Given the description of an element on the screen output the (x, y) to click on. 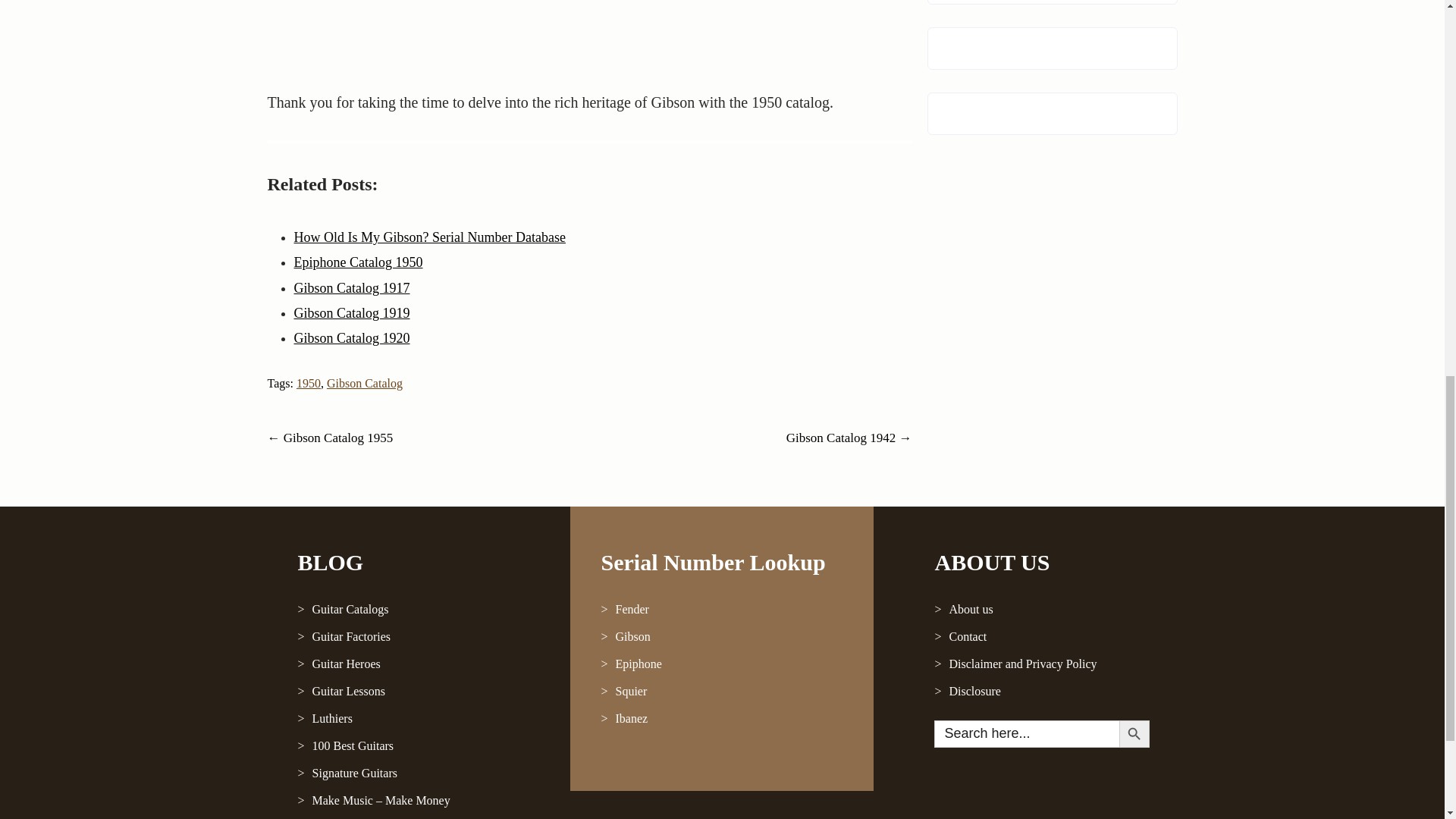
Squier (721, 691)
Signature Guitars (418, 773)
100 Best Guitars (418, 746)
Gibson Catalog (364, 382)
Guitar Catalogs (418, 609)
Gibson Catalog 1919 (352, 313)
Luthiers (418, 718)
Gibson (721, 636)
1950 (308, 382)
How Old Is My Gibson? Serial Number Database (430, 237)
Fender (721, 609)
Guitar Heroes (418, 664)
About us (1040, 609)
Gibson Catalog 1920 (352, 337)
Ibanez (721, 718)
